Given the description of an element on the screen output the (x, y) to click on. 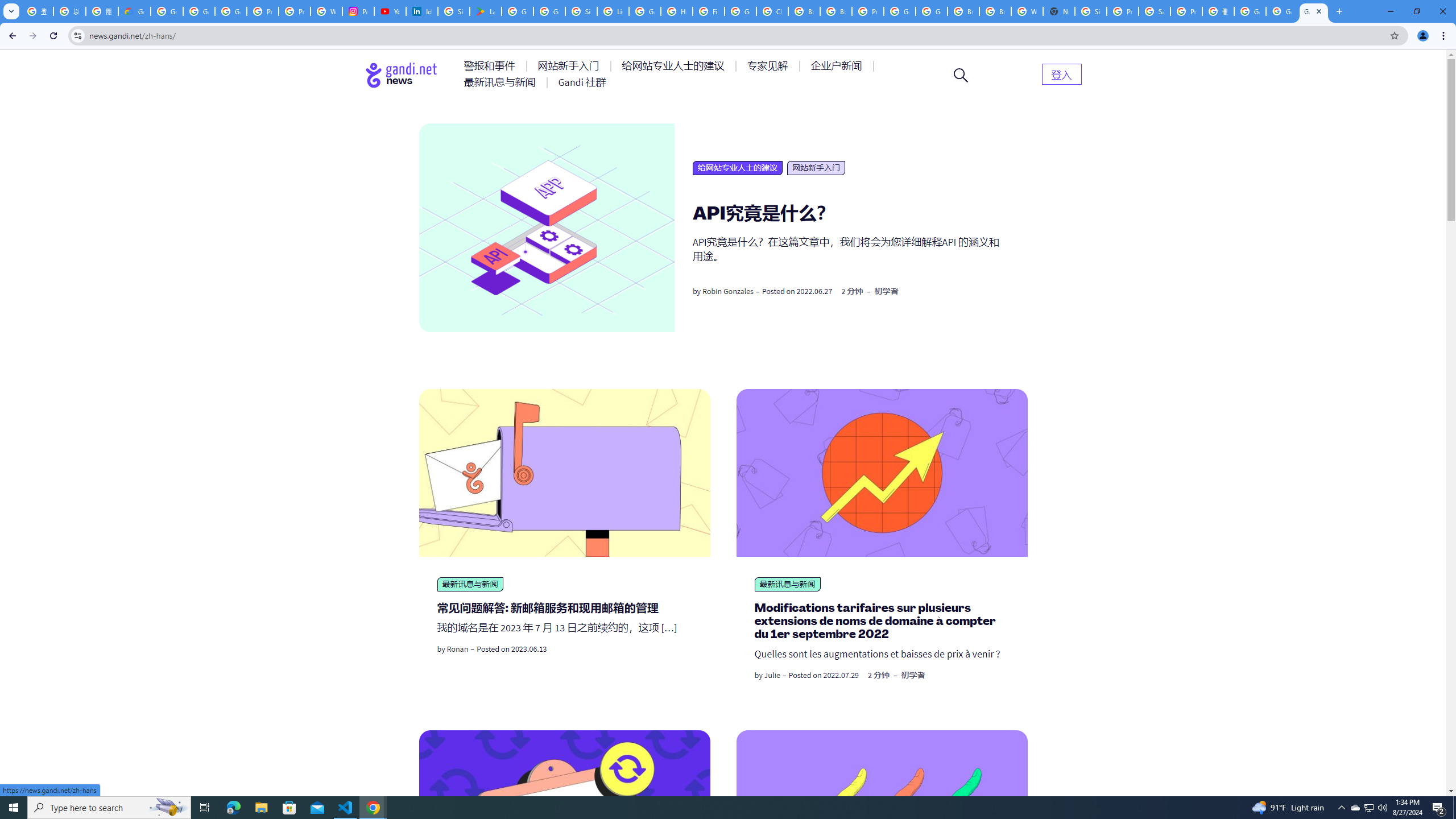
Ronan (457, 648)
Browse Chrome as a guest - Computer - Google Chrome Help (804, 11)
Google Cloud Platform (931, 11)
Last Shelter: Survival - Apps on Google Play (485, 11)
AutomationID: menu-item-77764 (769, 65)
